Given the description of an element on the screen output the (x, y) to click on. 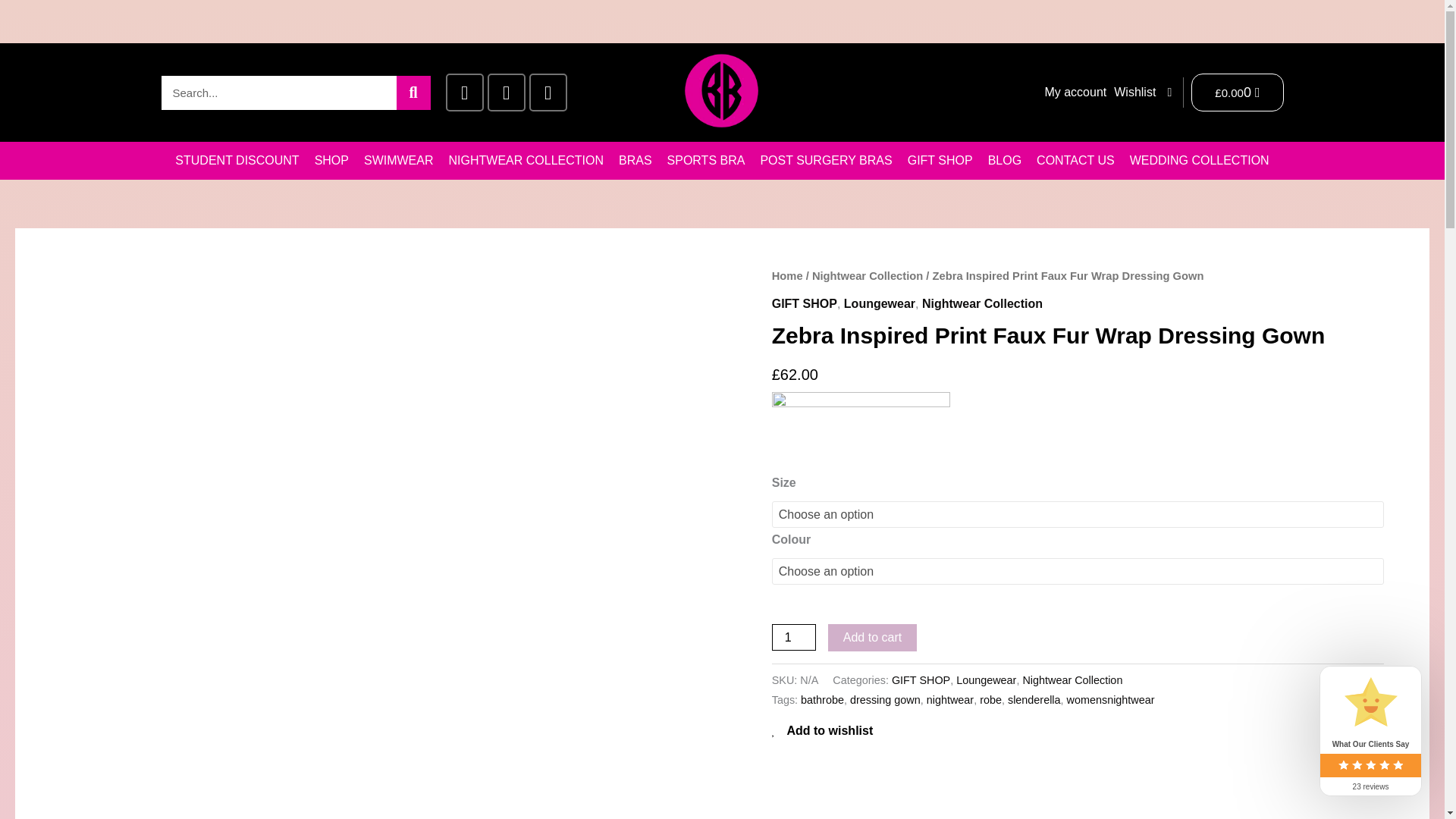
Instagram (505, 92)
WEDDING COLLECTION (1199, 160)
1 (793, 637)
CONTACT US (1075, 160)
BRAS (635, 160)
BLOG (1004, 160)
Home (787, 275)
Envelope (548, 92)
SWIMWEAR (398, 160)
POST SURGERY BRAS (825, 160)
NIGHTWEAR COLLECTION (526, 160)
Search (412, 92)
STUDENT DISCOUNT (236, 160)
GIFT SHOP (939, 160)
